Given the description of an element on the screen output the (x, y) to click on. 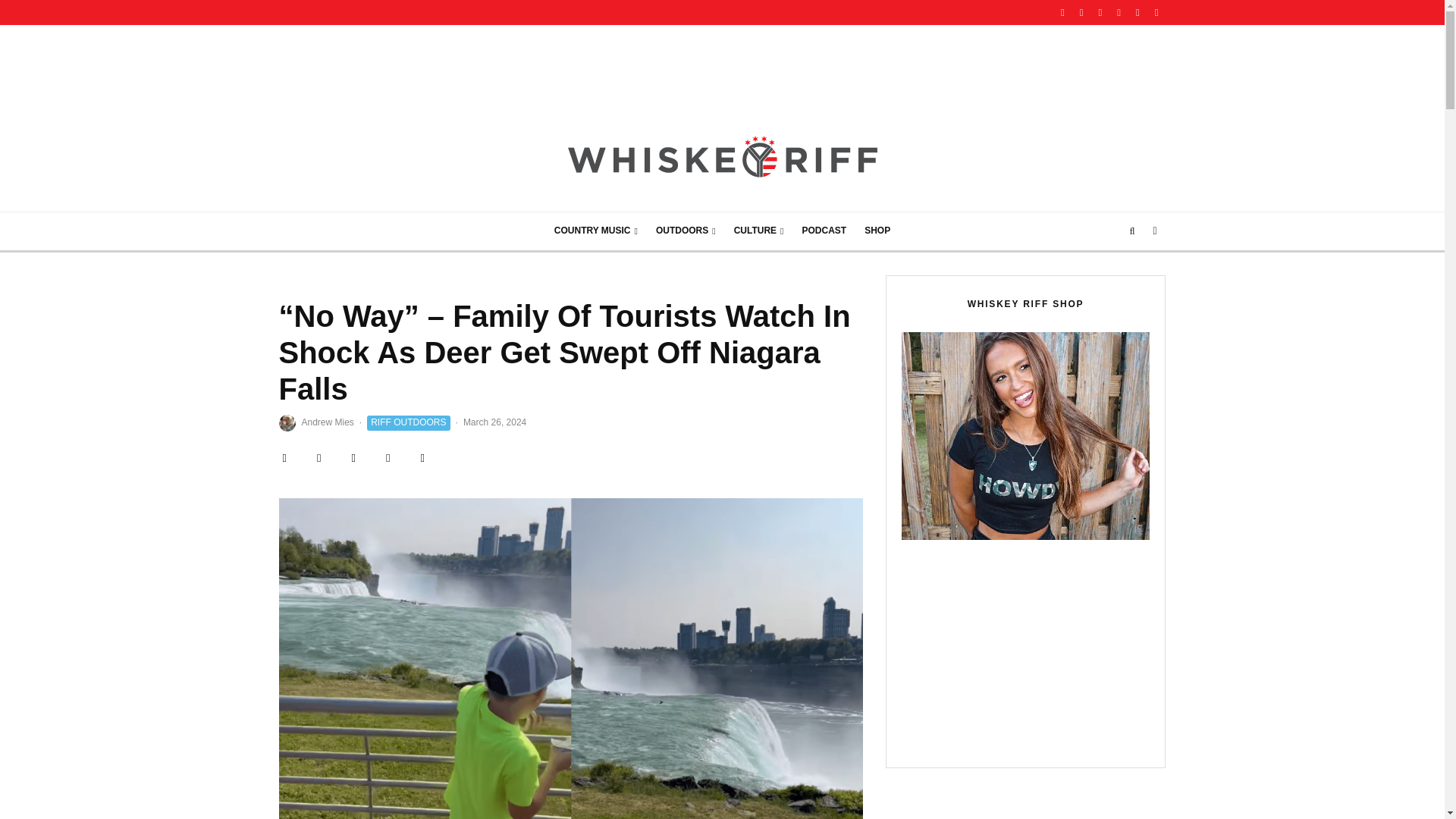
OUTDOORS (685, 231)
COUNTRY MUSIC (595, 231)
CULTURE (759, 231)
